Given the description of an element on the screen output the (x, y) to click on. 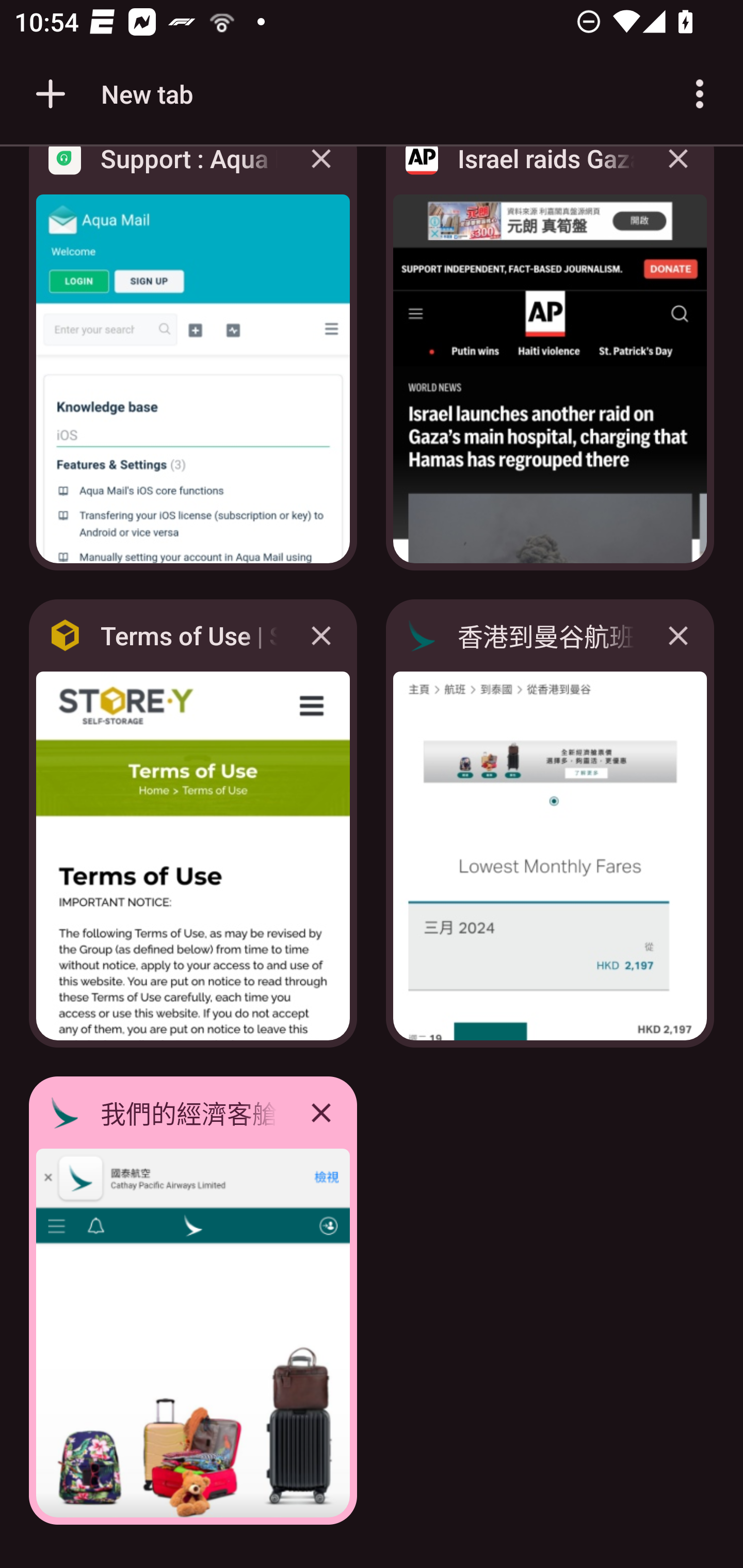
New tab (111, 93)
Customize and control Google Chrome (699, 93)
Close Support : Aqua Mail tab (320, 173)
Close Terms of Use | Store-Y Self Storage tab (320, 635)
Close 香港到曼谷航班 | 香港去曼谷機票優惠 | 國泰航空 tab (677, 635)
我們的經濟客艙票價 我們的經濟客艙票價, tab Close 我們的經濟客艙票價 tab (192, 1300)
Close 我們的經濟客艙票價 tab (320, 1112)
